Given the description of an element on the screen output the (x, y) to click on. 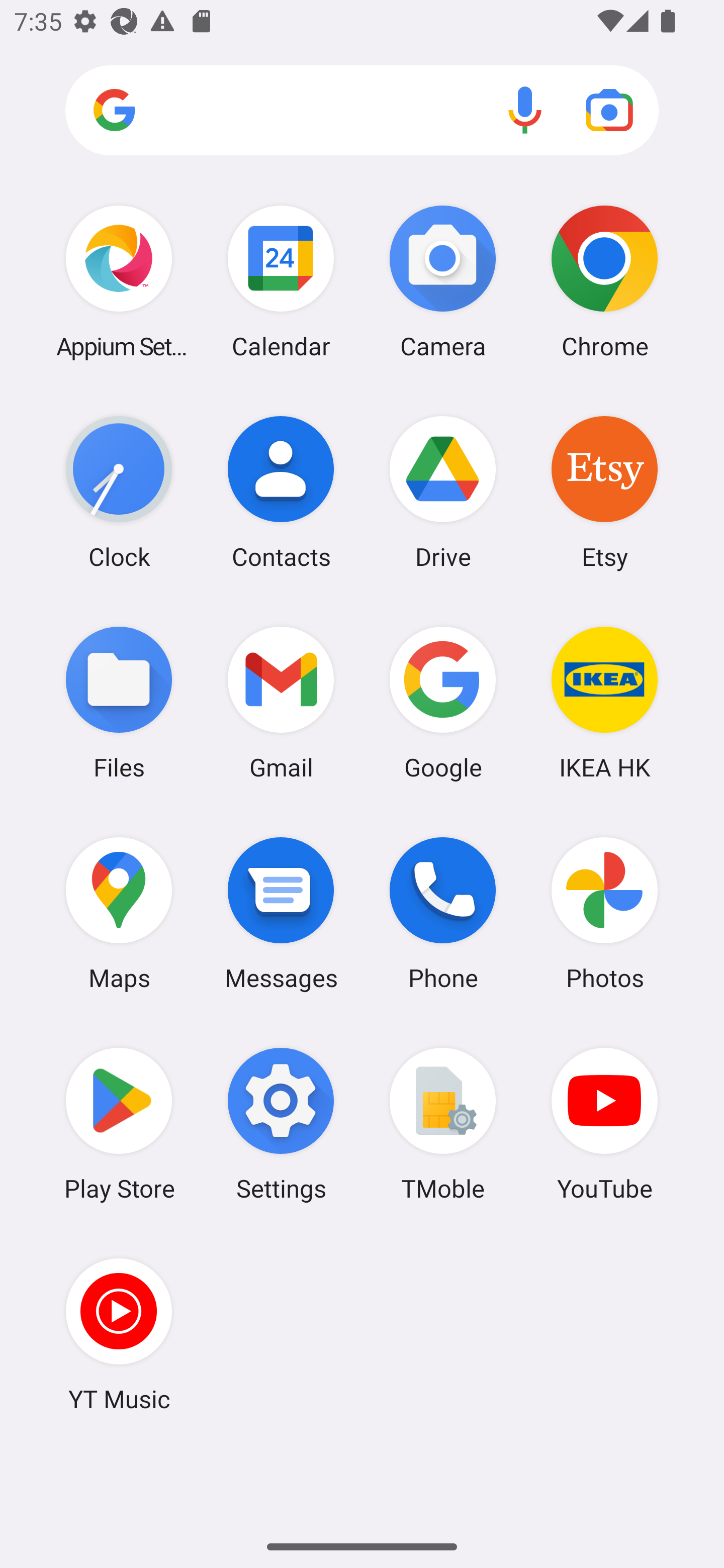
Search apps, web and more (361, 110)
Voice search (524, 109)
Google Lens (608, 109)
Appium Settings (118, 281)
Calendar (280, 281)
Camera (443, 281)
Chrome (604, 281)
Clock (118, 492)
Contacts (280, 492)
Drive (443, 492)
Etsy (604, 492)
Files (118, 702)
Gmail (280, 702)
Google (443, 702)
IKEA HK (604, 702)
Maps (118, 913)
Messages (280, 913)
Phone (443, 913)
Photos (604, 913)
Play Store (118, 1124)
Settings (280, 1124)
TMoble (443, 1124)
YouTube (604, 1124)
YT Music (118, 1334)
